Given the description of an element on the screen output the (x, y) to click on. 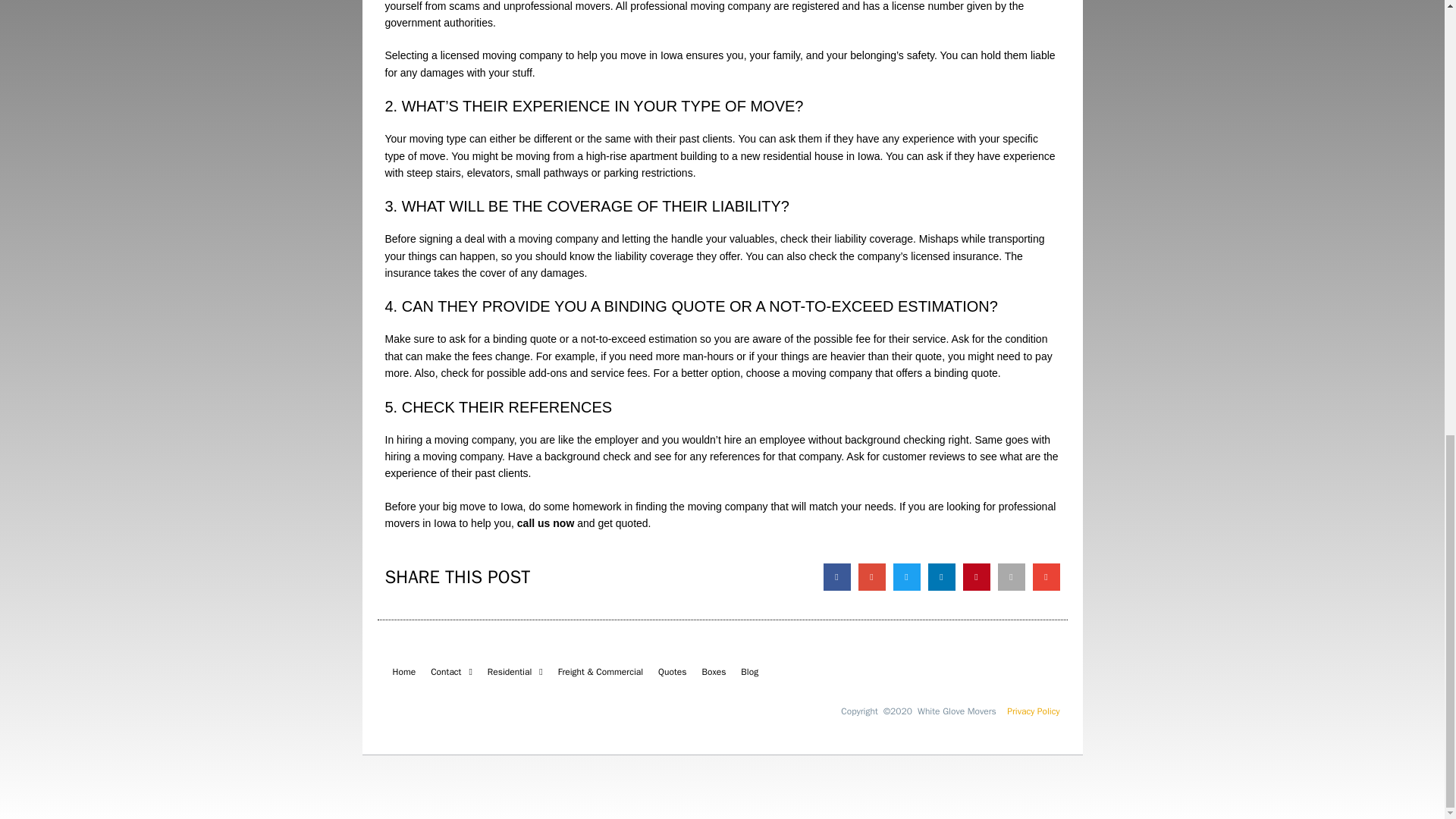
Contact (451, 671)
Boxes (713, 671)
Quotes (672, 671)
professional movers in Iowa (721, 514)
call us now (544, 522)
Home (404, 671)
Residential (515, 671)
Blog (749, 671)
